Given the description of an element on the screen output the (x, y) to click on. 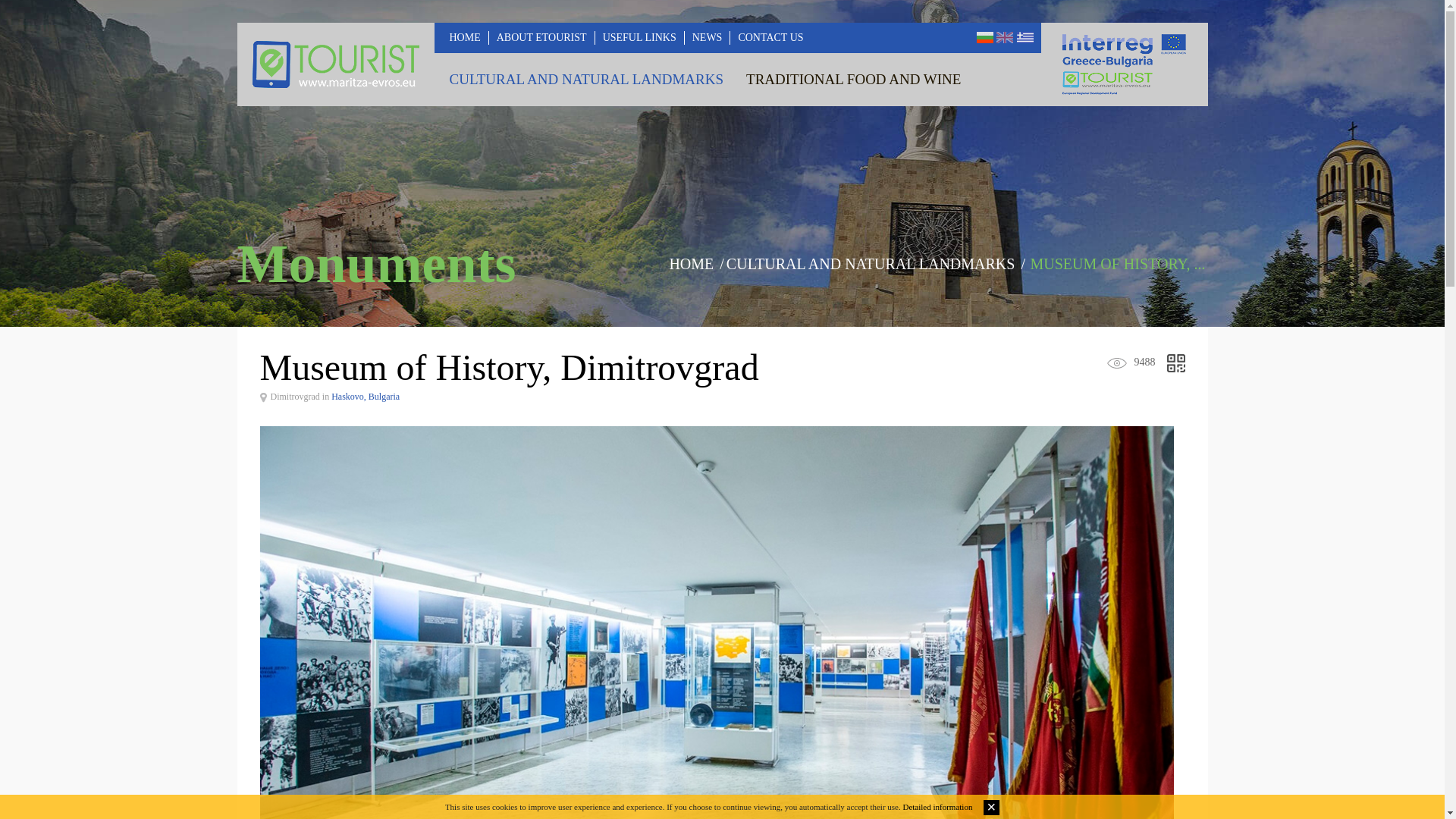
ABOUT ETOURIST (541, 38)
HOME (464, 38)
NEWS (707, 38)
English (1004, 37)
Haskovo, Bulgaria (364, 396)
TRADITIONAL FOOD AND WINE (853, 79)
USEFUL LINKS (639, 38)
CONTACT US (770, 38)
CULTURAL AND NATURAL LANDMARKS (870, 263)
Detailed information (937, 806)
HOME (691, 263)
CULTURAL AND NATURAL LANDMARKS (585, 79)
